Given the description of an element on the screen output the (x, y) to click on. 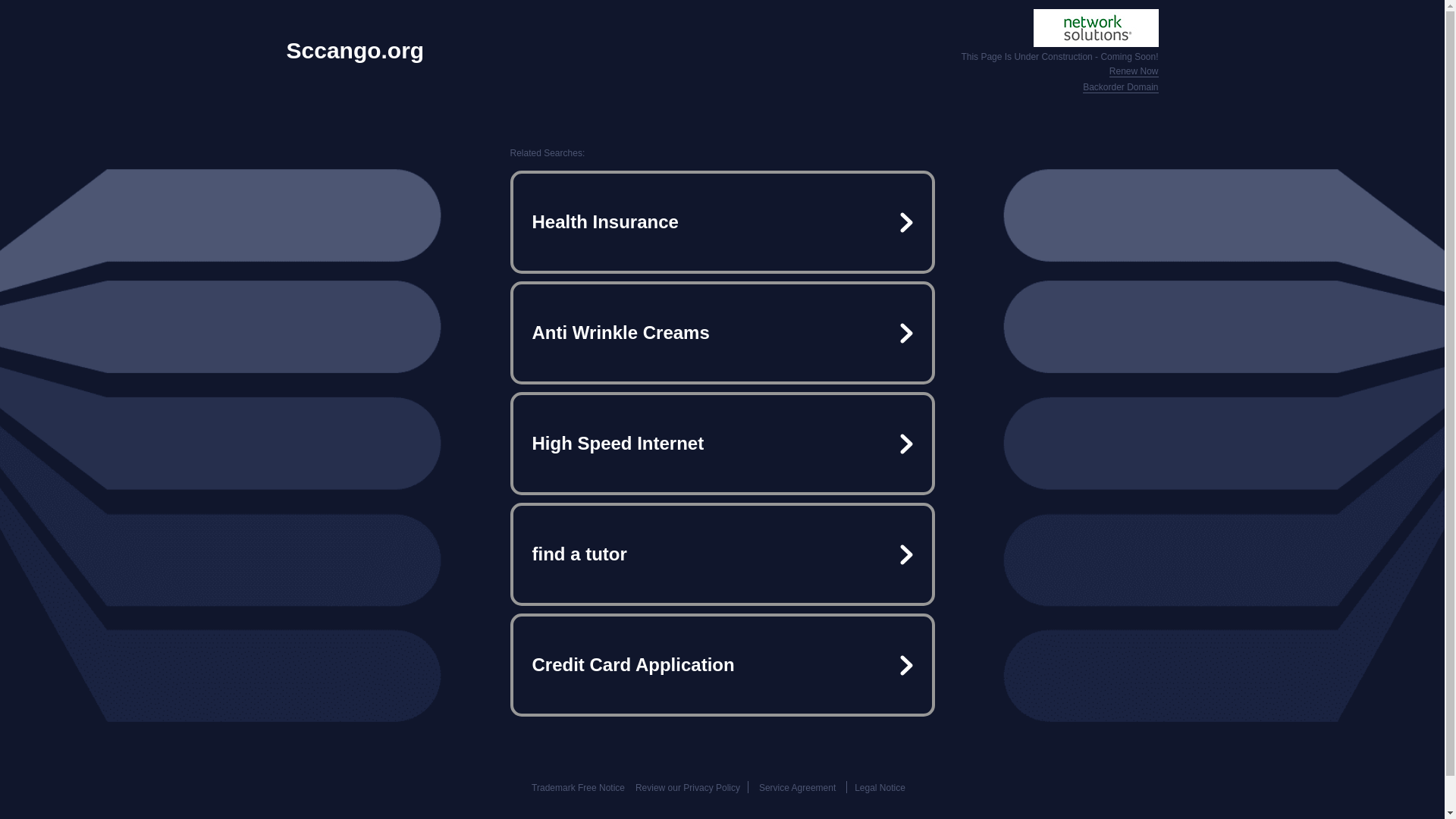
Service Agreement (796, 787)
Review our Privacy Policy (686, 787)
Credit Card Application (721, 664)
find a tutor (721, 554)
Credit Card Application (721, 664)
High Speed Internet (721, 443)
Backorder Domain (1120, 87)
Anti Wrinkle Creams (721, 332)
Renew Now (1133, 71)
High Speed Internet (721, 443)
